Given the description of an element on the screen output the (x, y) to click on. 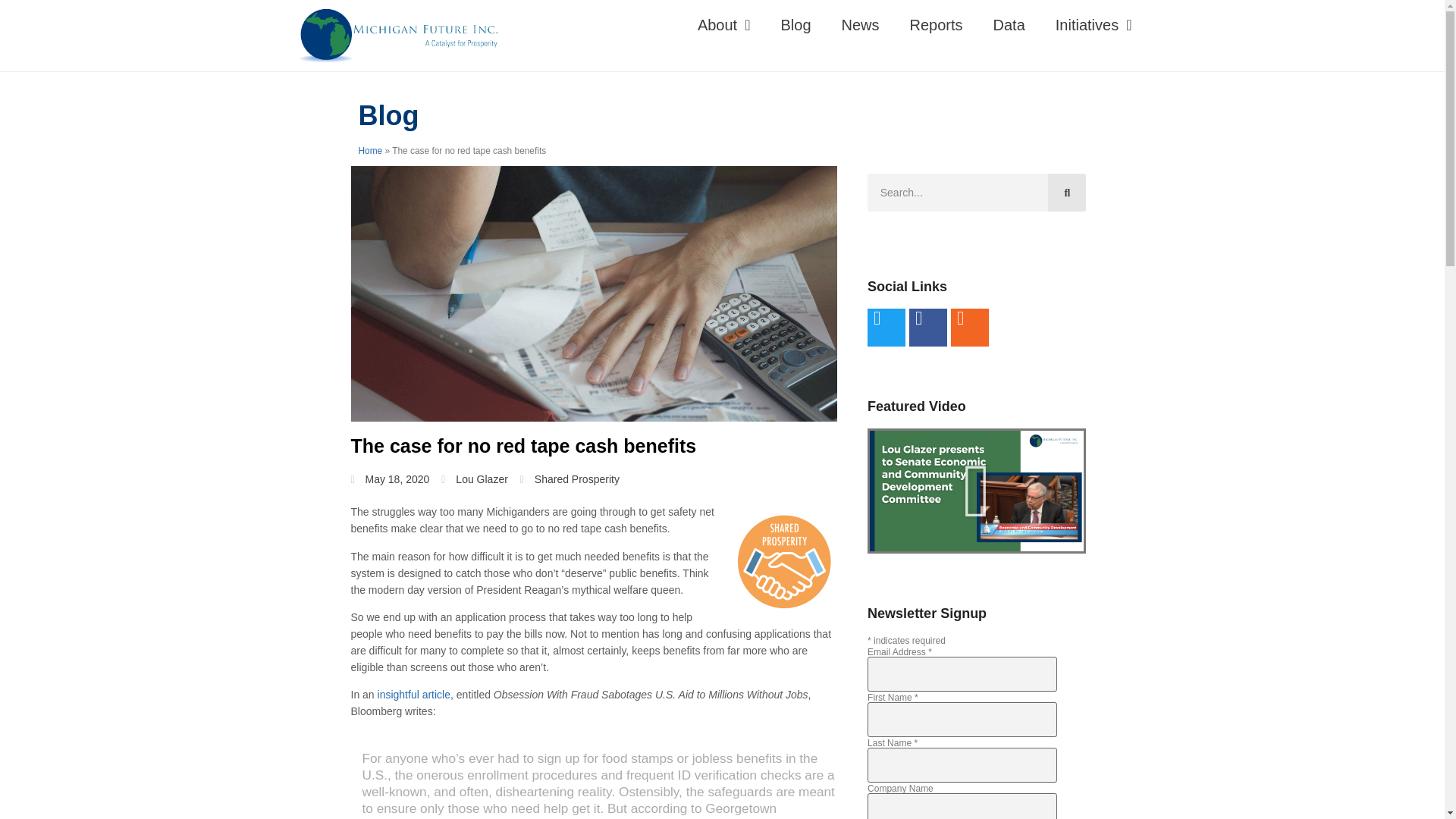
Data (1009, 24)
Reports (936, 24)
Home (369, 150)
News (861, 24)
Shared Prosperity (577, 479)
May 18, 2020 (389, 479)
About (723, 24)
Blog (795, 24)
Lou Glazer (473, 479)
insightful article (411, 694)
Initiatives (1094, 24)
